Given the description of an element on the screen output the (x, y) to click on. 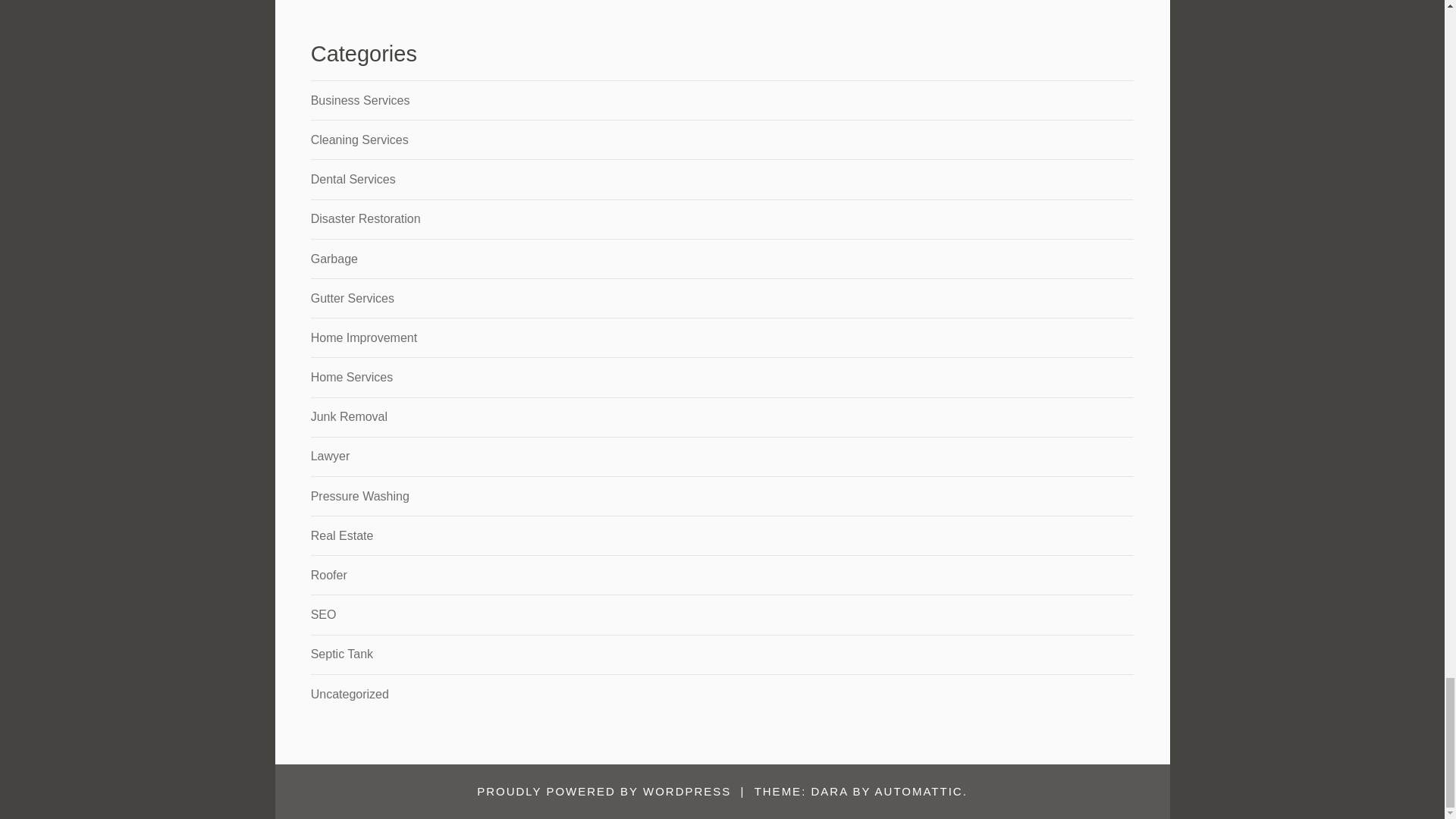
Lawyer (330, 455)
Pressure Washing (360, 495)
Cleaning Services (360, 139)
Disaster Restoration (365, 218)
Business Services (360, 100)
Home Improvement (364, 337)
Home Services (352, 377)
Real Estate (342, 535)
Gutter Services (352, 297)
Garbage (334, 258)
